Given the description of an element on the screen output the (x, y) to click on. 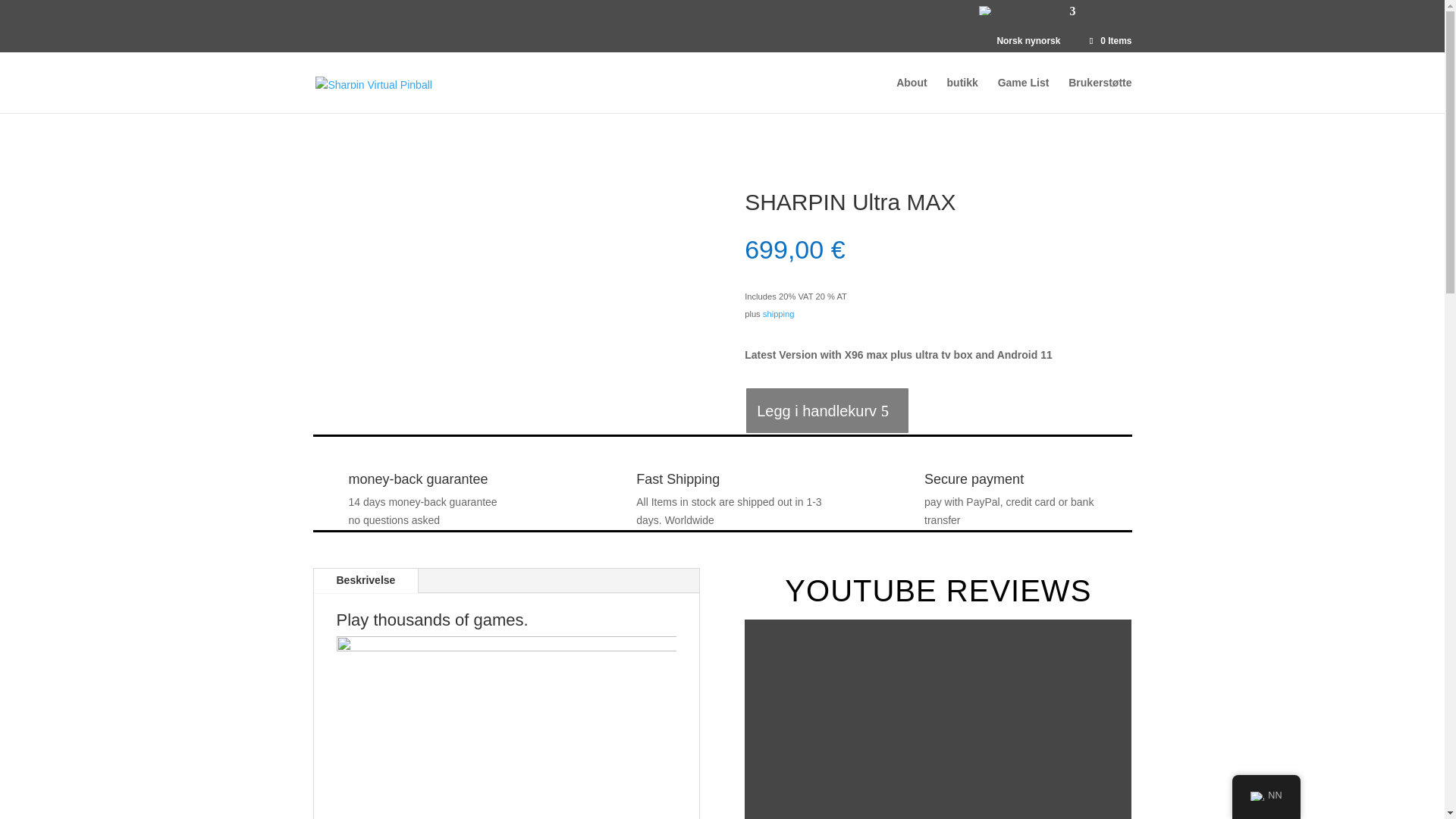
NN (1265, 796)
Legg i handlekurv (827, 410)
Norsk nynorsk (1025, 29)
Game List (1023, 94)
Norsk nynorsk (985, 10)
shipping (778, 313)
Norsk nynorsk (1256, 795)
0 Items (1108, 40)
Beskrivelse (366, 580)
